Given the description of an element on the screen output the (x, y) to click on. 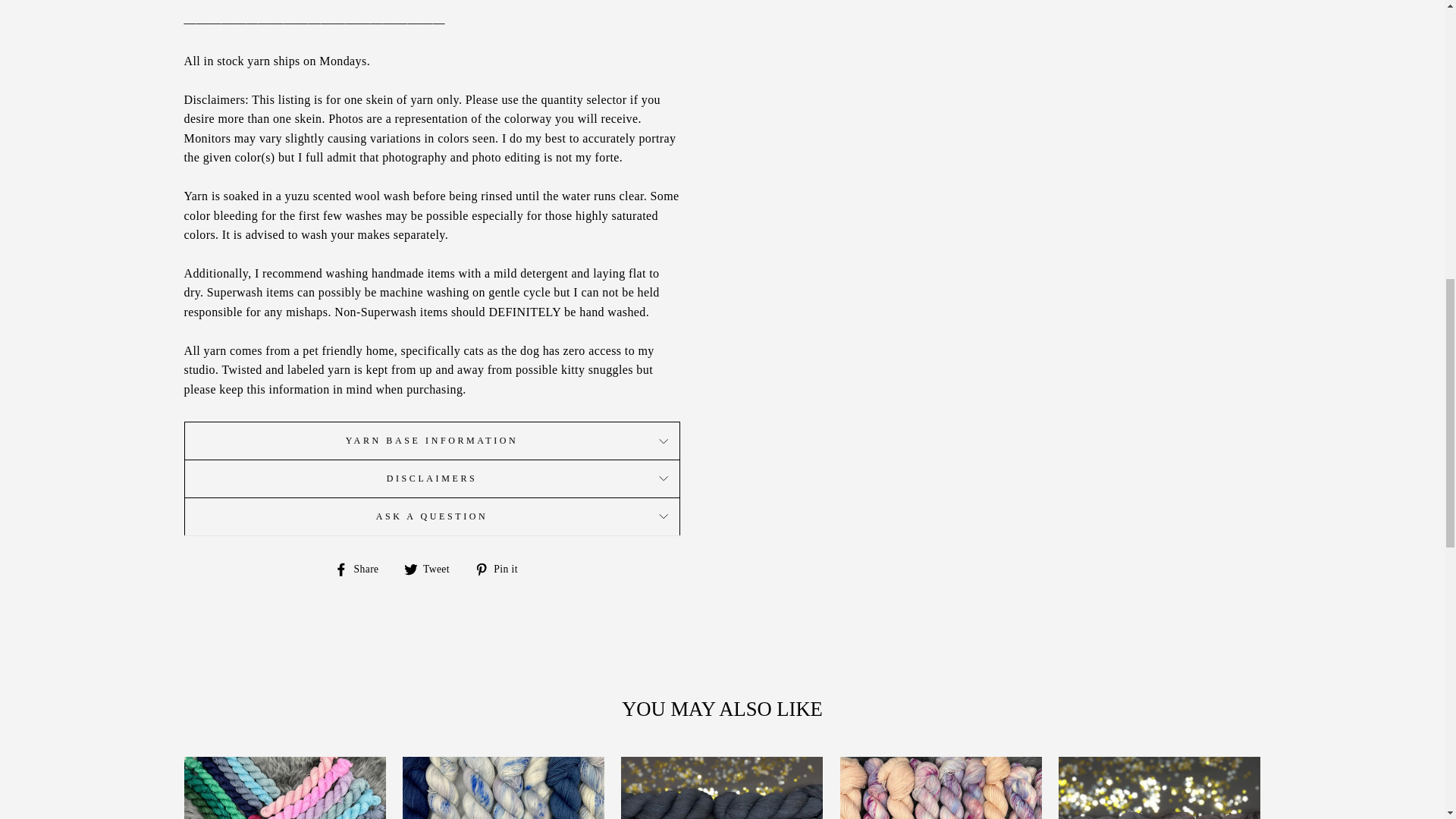
Tweet on Twitter (432, 568)
Share on Facebook (362, 568)
Pin on Pinterest (501, 568)
